Given the description of an element on the screen output the (x, y) to click on. 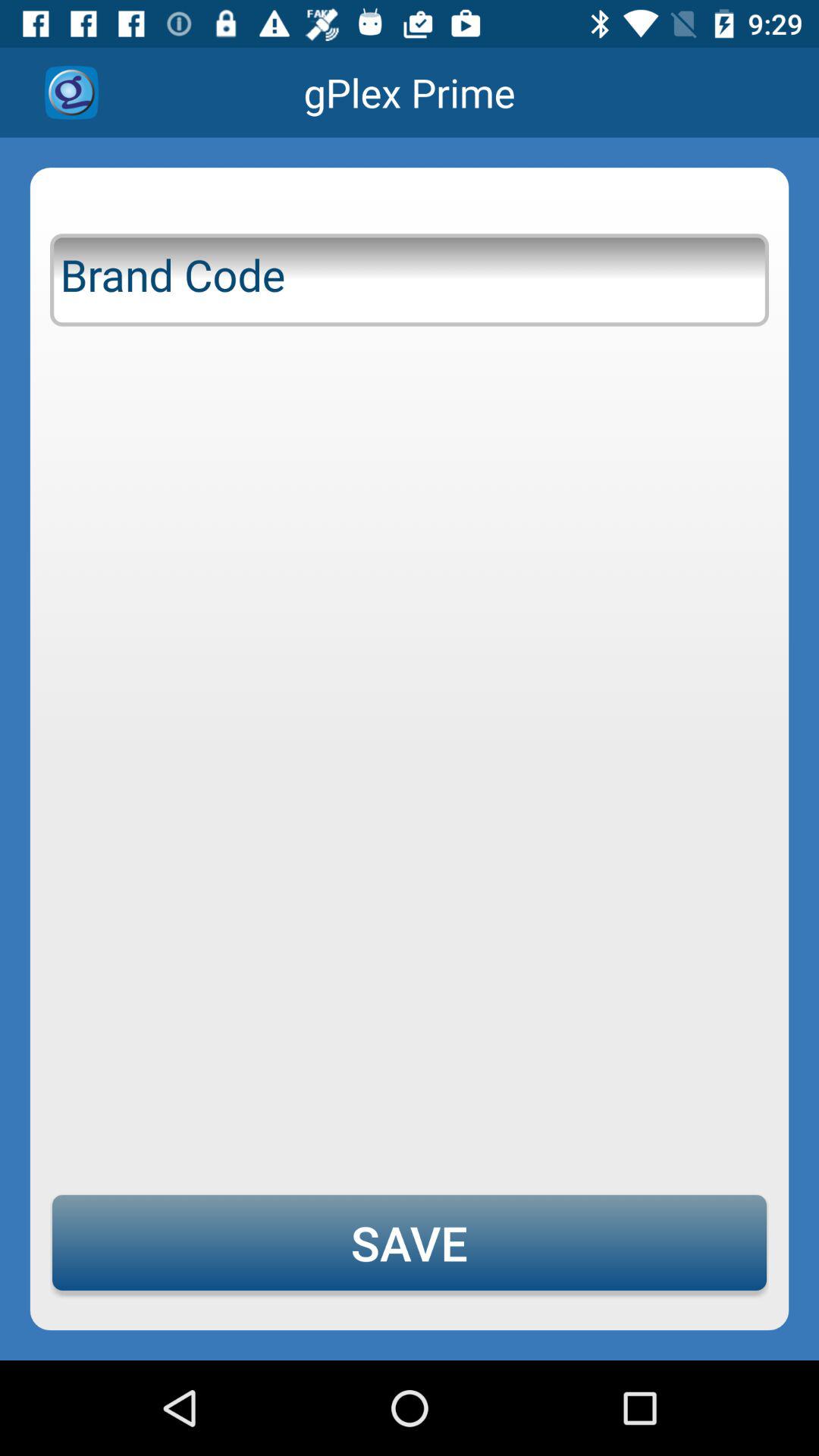
scroll to save item (409, 1242)
